Given the description of an element on the screen output the (x, y) to click on. 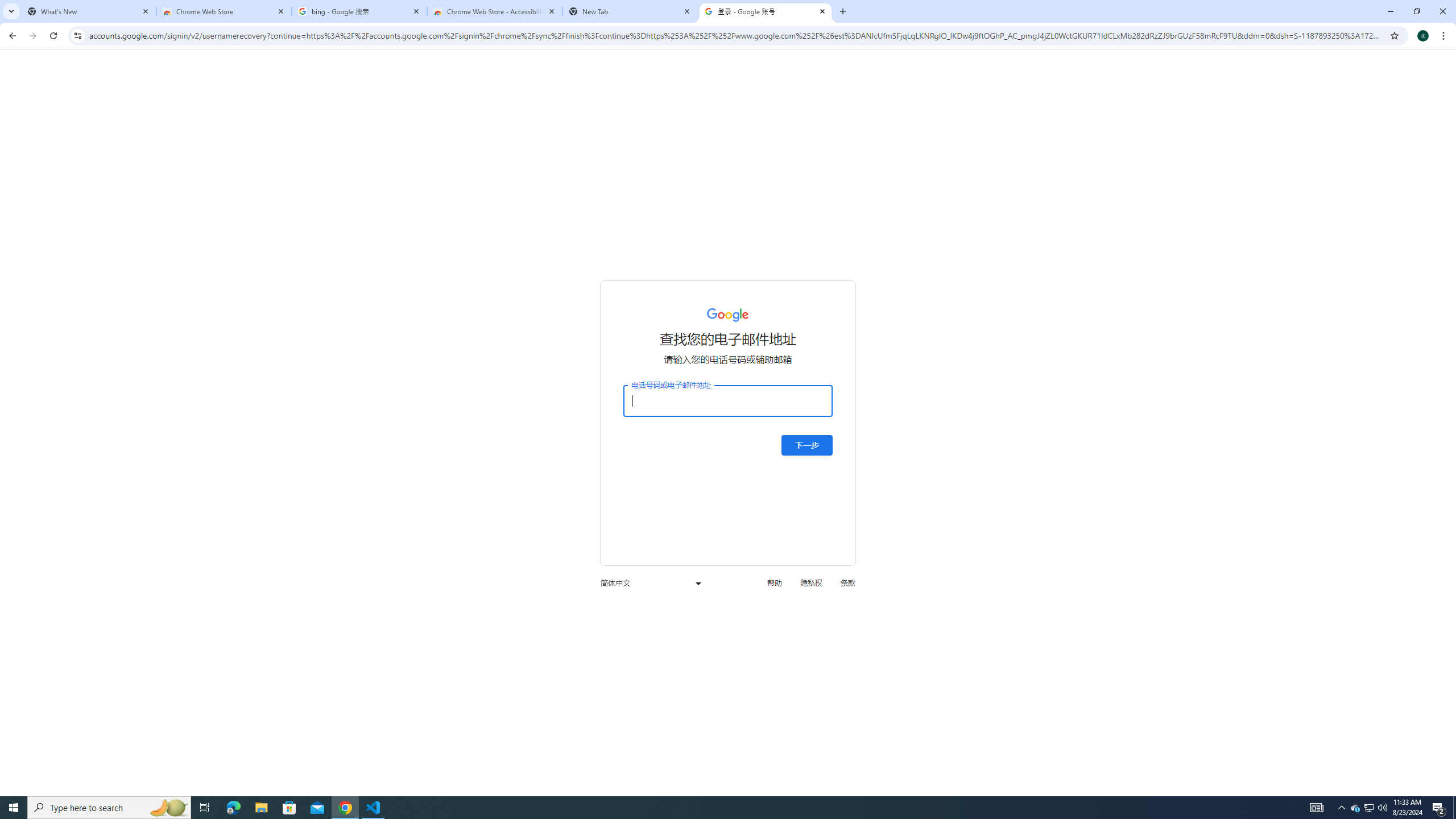
Delete (706, 91)
Track Changes (925, 92)
Next (1143, 112)
Repeat Accessibility Checker (193, 18)
Show Markup (1003, 91)
Hide Ink (1378, 92)
Language Chinese (Simplified, Mainland China) (188, 773)
Translate (318, 92)
Post comment (Ctrl + Enter) (1344, 279)
Word Count (110, 102)
Check Accessibility (248, 92)
Spelling & Grammar (41, 92)
